Given the description of an element on the screen output the (x, y) to click on. 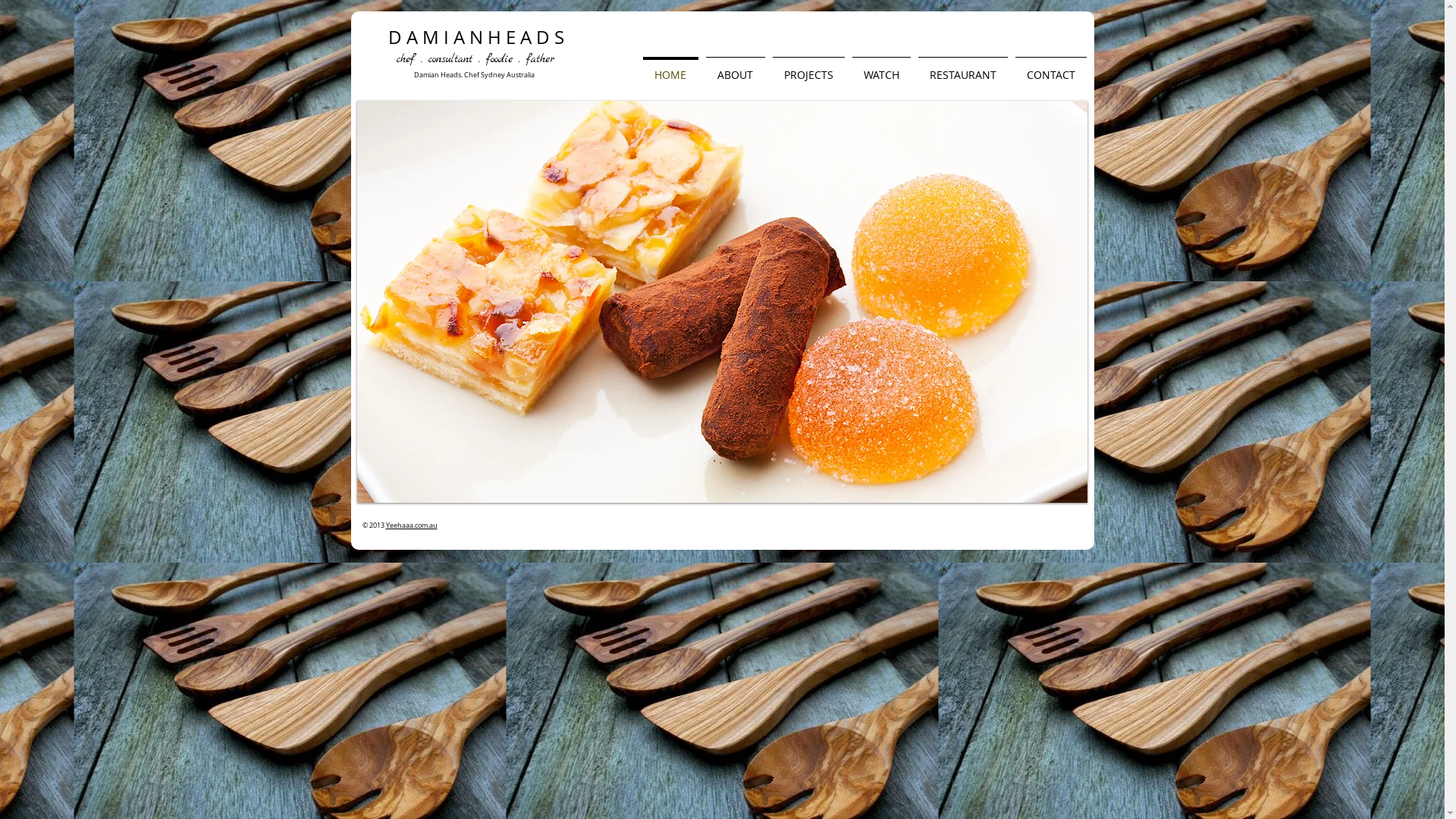
WATCH Element type: text (880, 67)
PROJECTS Element type: text (808, 67)
RESTAURANT Element type: text (962, 67)
CONTACT Element type: text (1050, 67)
Yeehaaa.com.au Element type: text (410, 525)
HOME Element type: text (669, 67)
ABOUT Element type: text (735, 67)
